Given the description of an element on the screen output the (x, y) to click on. 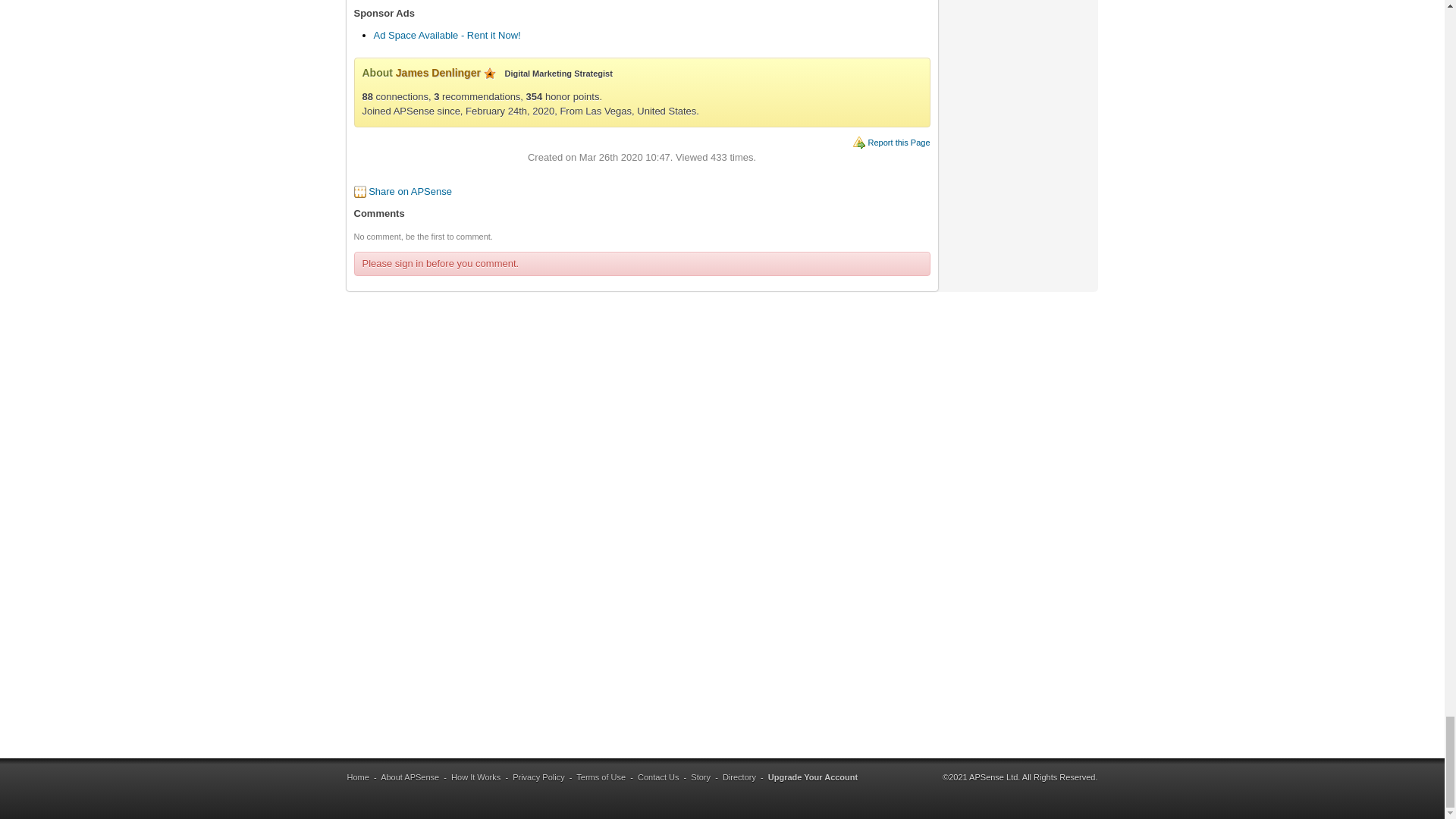
Report this Page (898, 142)
Share on APSense (409, 191)
Ad Space Available - Rent it Now! (445, 34)
Share on APSense (409, 191)
Advanced (489, 73)
James Denlinger (438, 72)
